Given the description of an element on the screen output the (x, y) to click on. 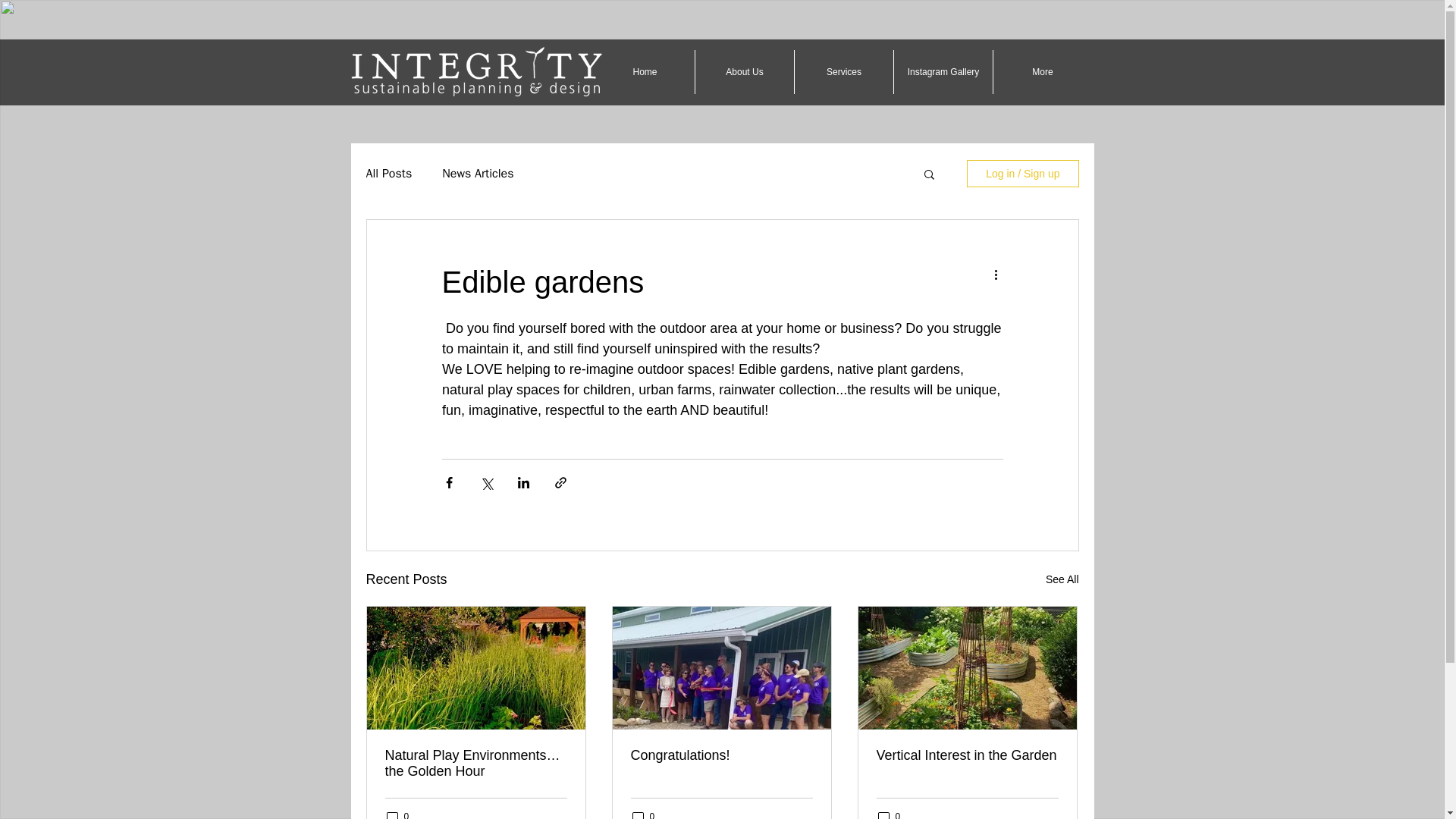
Congratulations! (721, 755)
See All (1061, 579)
Services (843, 71)
All Posts (388, 172)
Home (644, 71)
About Us (744, 71)
News Articles (477, 172)
0 (397, 814)
0 (889, 814)
Vertical Interest in the Garden (967, 755)
